Given the description of an element on the screen output the (x, y) to click on. 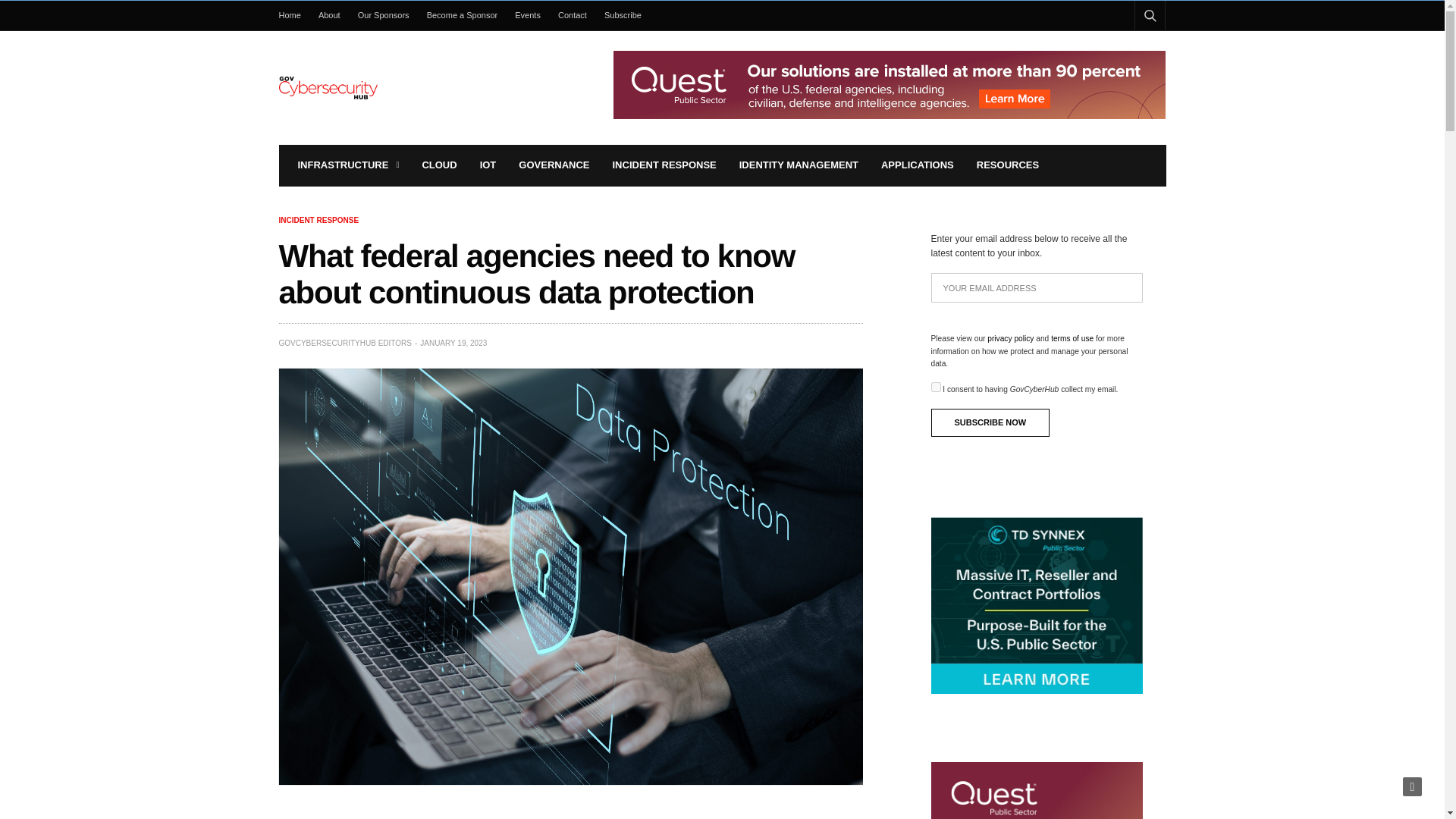
CLOUD (439, 165)
RESOURCES (1007, 165)
INCIDENT RESPONSE (664, 165)
subscribe (935, 387)
Events (527, 15)
Subscribe Now (990, 422)
About (329, 15)
GOVCYBERSECURITYHUB EDITORS (345, 343)
Home (293, 15)
APPLICATIONS (916, 165)
Subscribe (622, 15)
Become a Sponsor (462, 15)
Contact (572, 15)
IOT (488, 165)
Incident Response (319, 220)
